Given the description of an element on the screen output the (x, y) to click on. 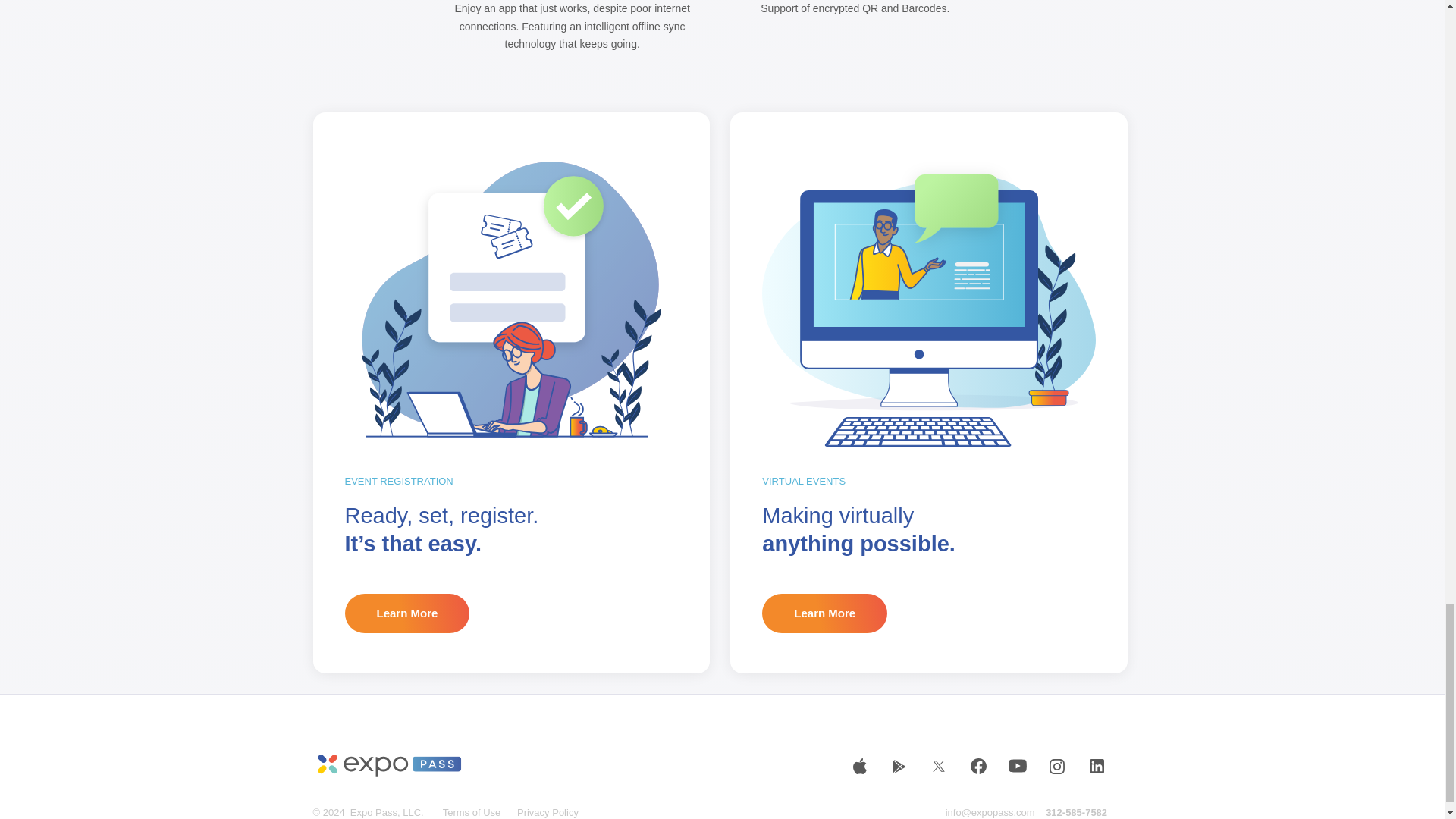
Follow on Instagram (1057, 766)
Follow on Apple (859, 766)
Follow on Android (898, 766)
Follow on X (938, 766)
Follow on LinkedIn (1096, 766)
Follow on Youtube (1017, 766)
Follow on Facebook (977, 766)
